Given the description of an element on the screen output the (x, y) to click on. 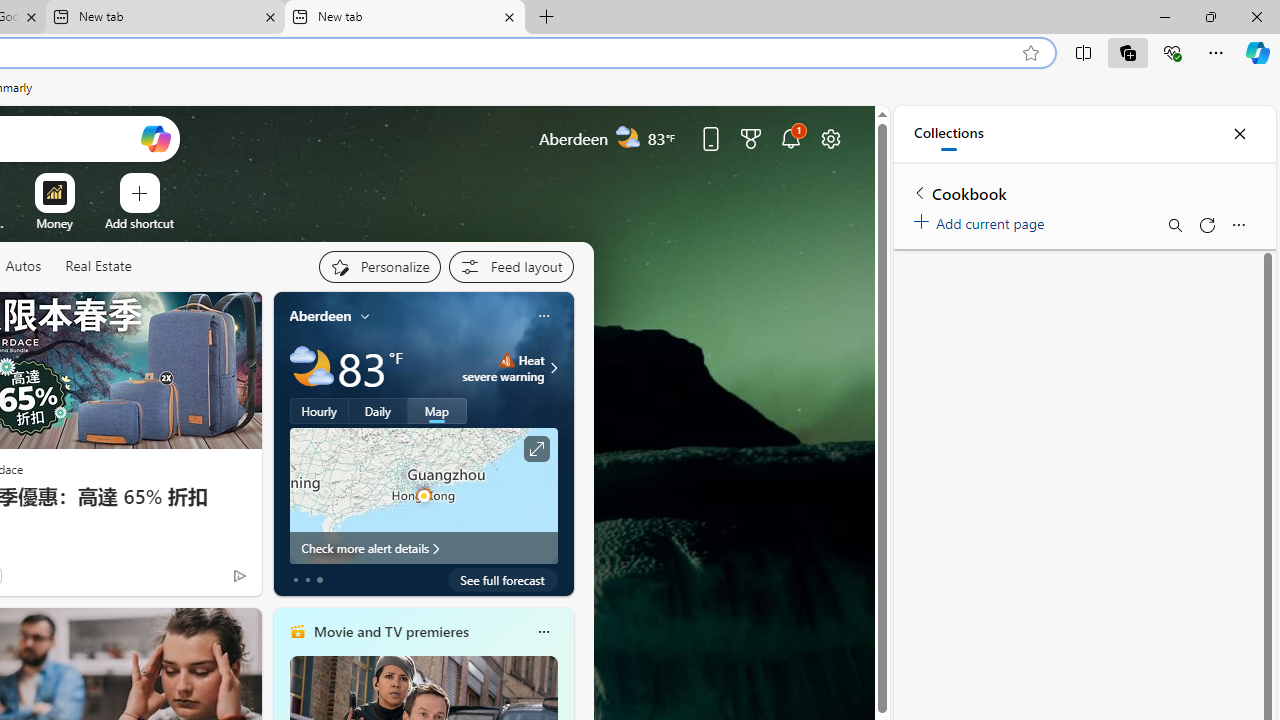
Heat - Severe Heat severe warning (503, 367)
More options menu (1238, 224)
Real Estate (97, 267)
Partly cloudy (311, 368)
Microsoft rewards (750, 138)
My location (365, 315)
Map (437, 411)
tab-2 (319, 579)
Autos (22, 265)
